Given the description of an element on the screen output the (x, y) to click on. 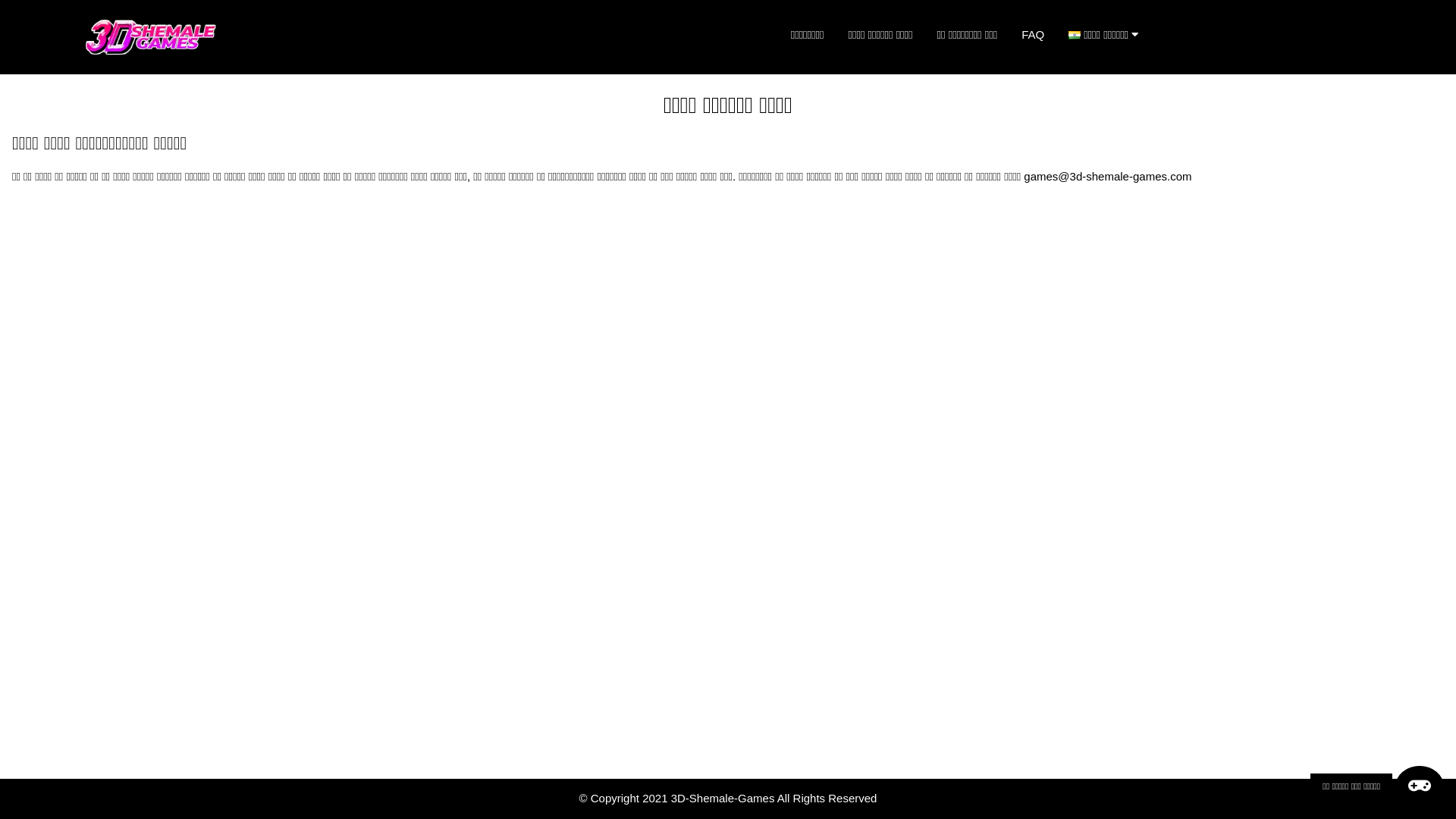
FAQ Element type: text (1032, 35)
